Given the description of an element on the screen output the (x, y) to click on. 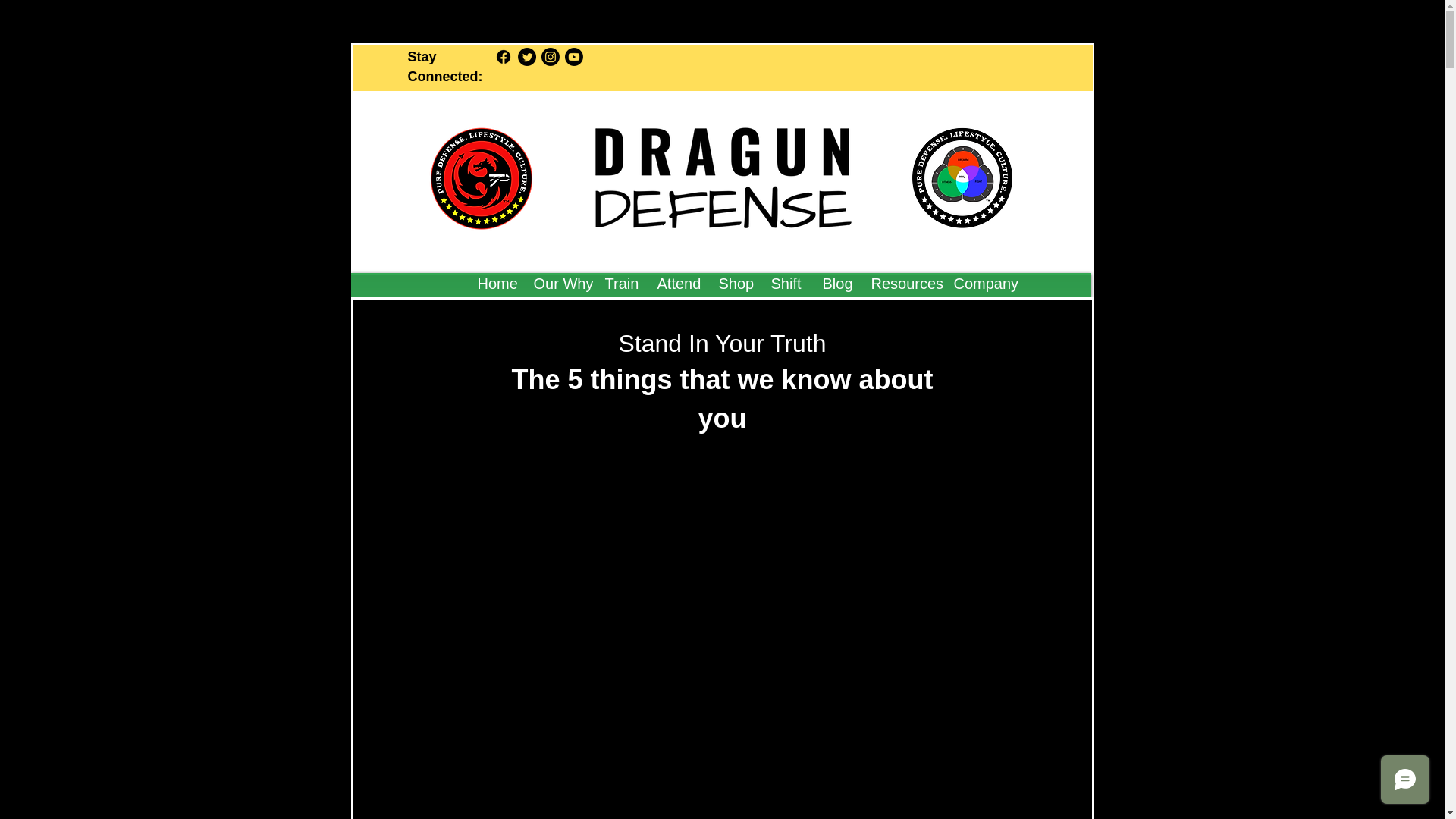
Visitor Analytics (178, 104)
Home (493, 283)
Train (618, 283)
Shop (732, 283)
Company (979, 283)
Blog (835, 283)
Resources (901, 283)
Shift (785, 283)
Attend (676, 283)
Our Why (556, 283)
